Given the description of an element on the screen output the (x, y) to click on. 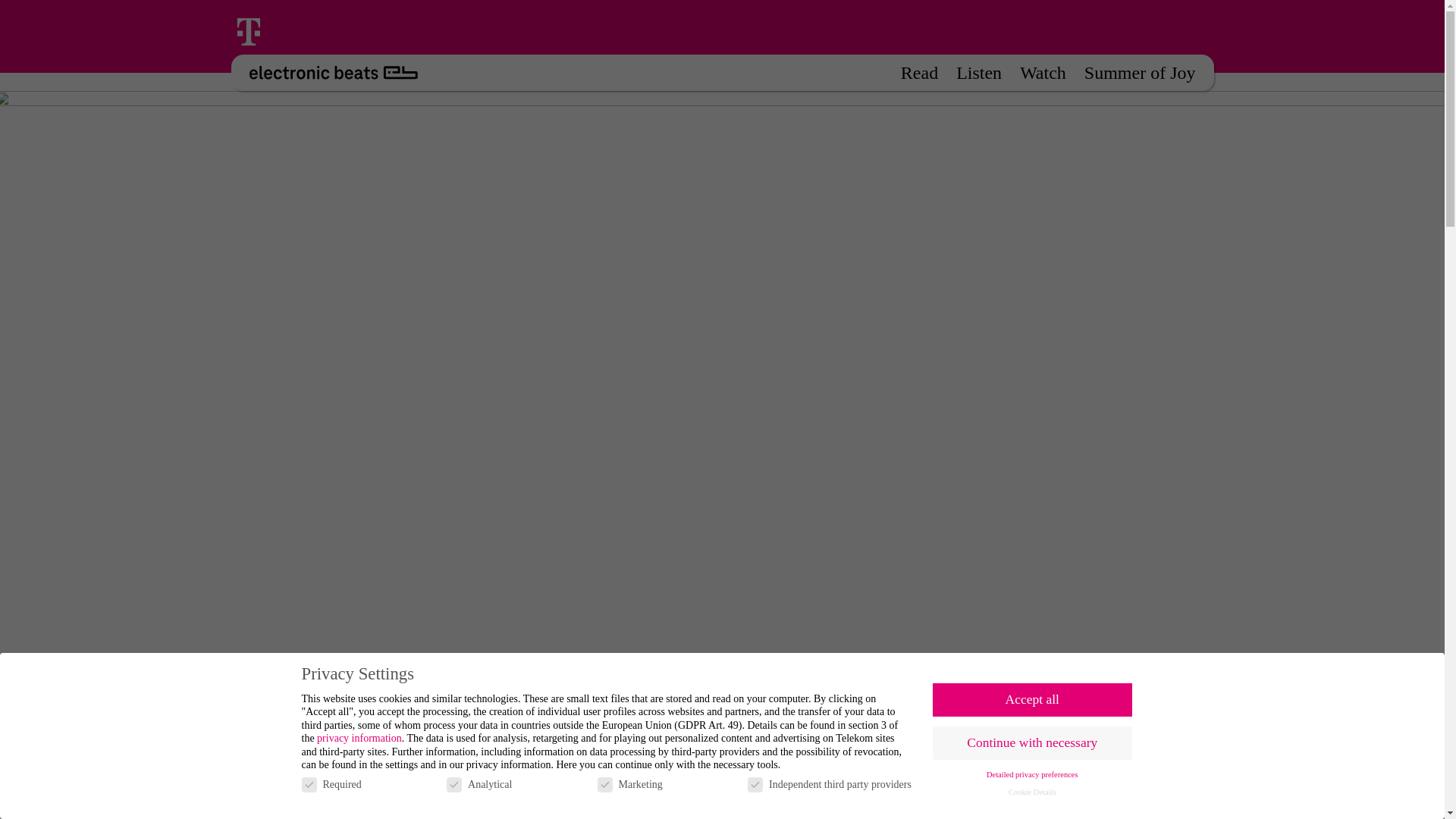
Watch (1042, 71)
Listen (978, 71)
Cookie Details (1033, 791)
Read (919, 71)
Continue with necessary (1032, 743)
Summer of Joy (1139, 71)
Accept all (1032, 699)
Detailed privacy preferences (1032, 774)
Telekom Electronic Beats (323, 73)
privacy information (359, 737)
